Given the description of an element on the screen output the (x, y) to click on. 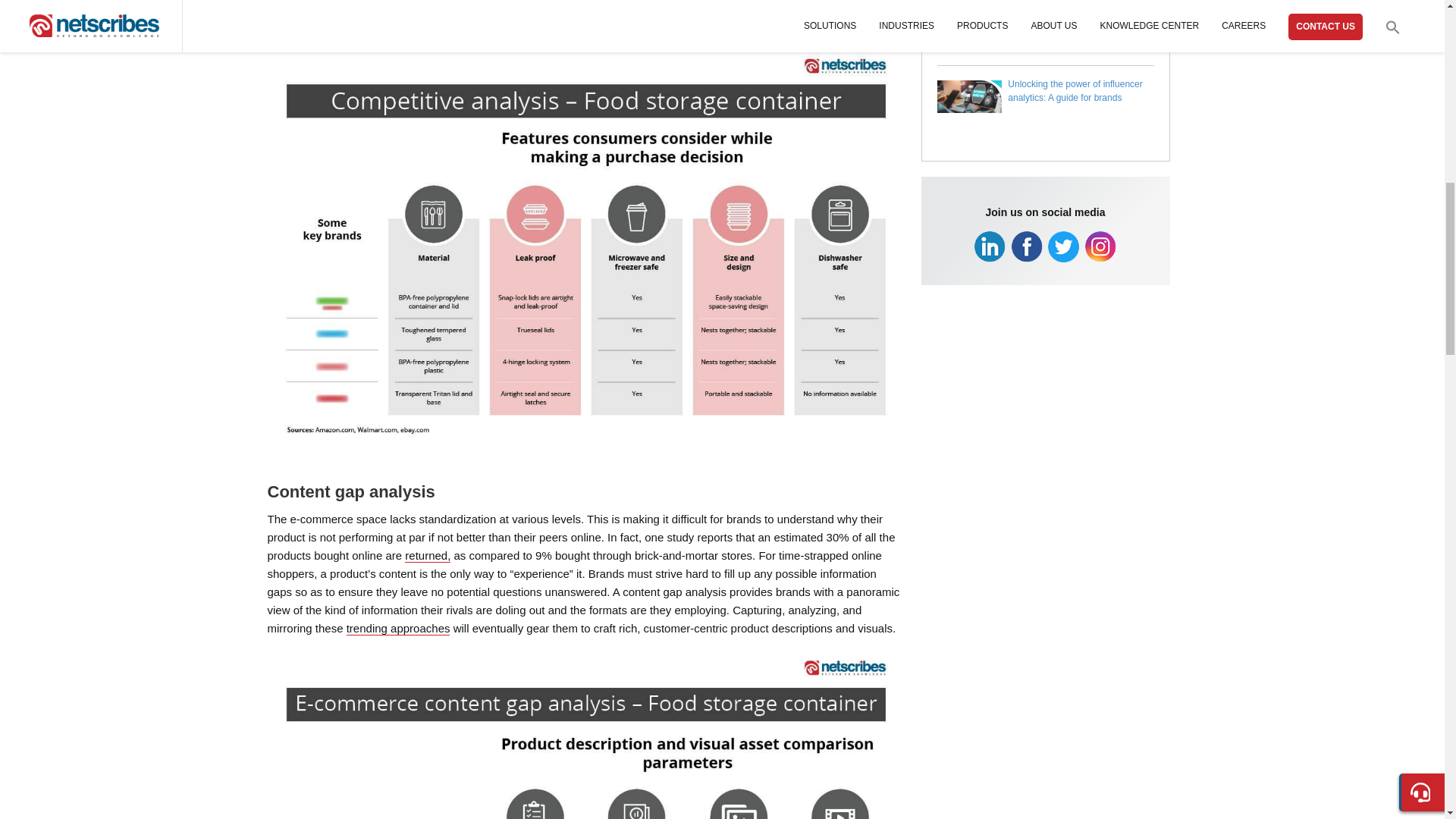
Navigating the future: Ecommerce technology trends 2024 (1075, 26)
Navigating the future: Ecommerce technology trends 2024 (970, 45)
